Given the description of an element on the screen output the (x, y) to click on. 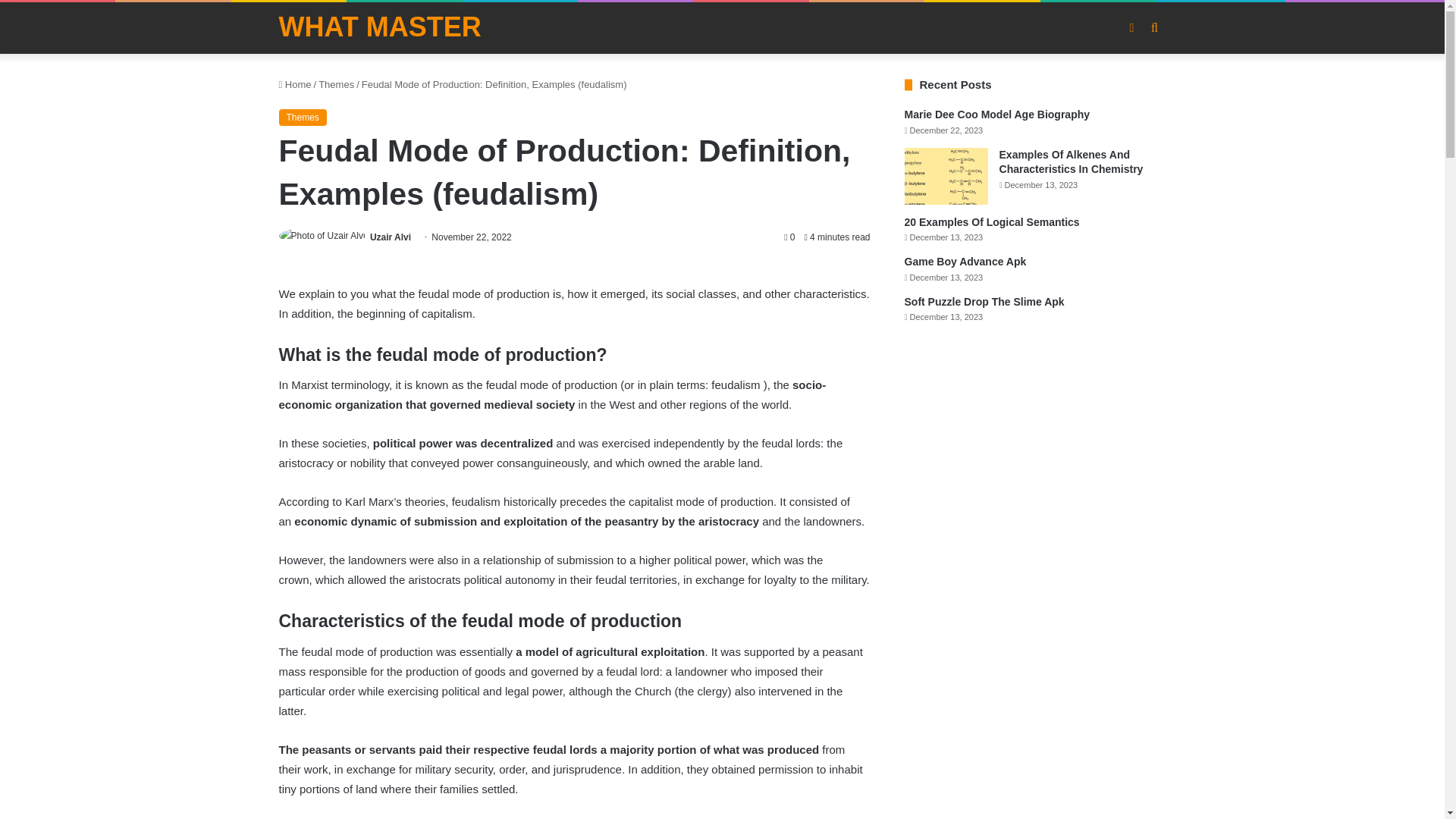
Themes (302, 117)
WHAT MASTER (380, 26)
Uzair Alvi (389, 236)
Themes (335, 84)
Uzair Alvi (389, 236)
WHAT MASTER (380, 26)
Home (295, 84)
